Given the description of an element on the screen output the (x, y) to click on. 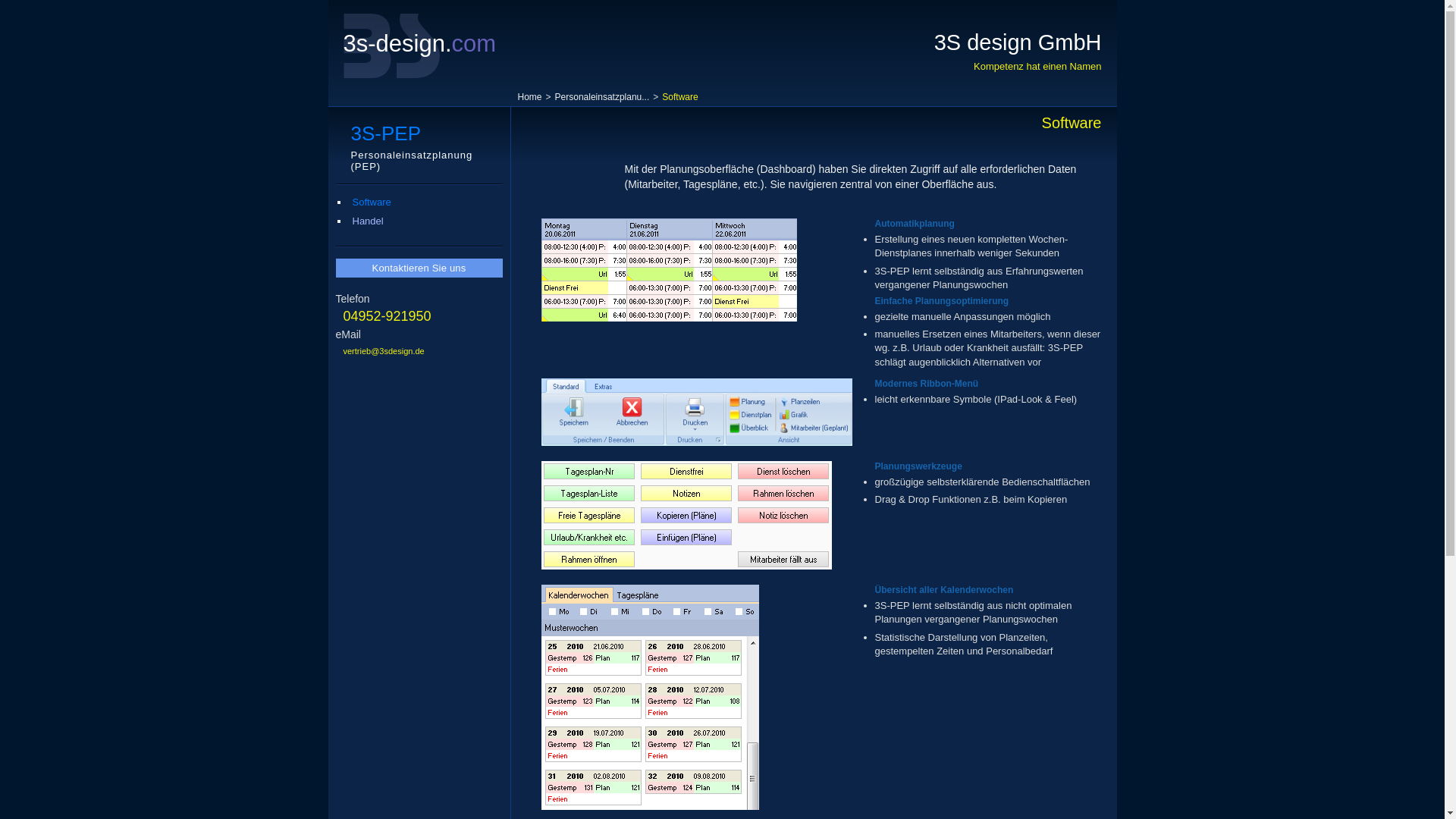
Personaleinsatzplanung (PEP) Element type: text (411, 160)
Personaleinsatzplanu... Element type: text (602, 96)
vertrieb@3sdesign.de Element type: text (379, 350)
Home Element type: text (529, 96)
Handel Element type: text (366, 220)
